Given the description of an element on the screen output the (x, y) to click on. 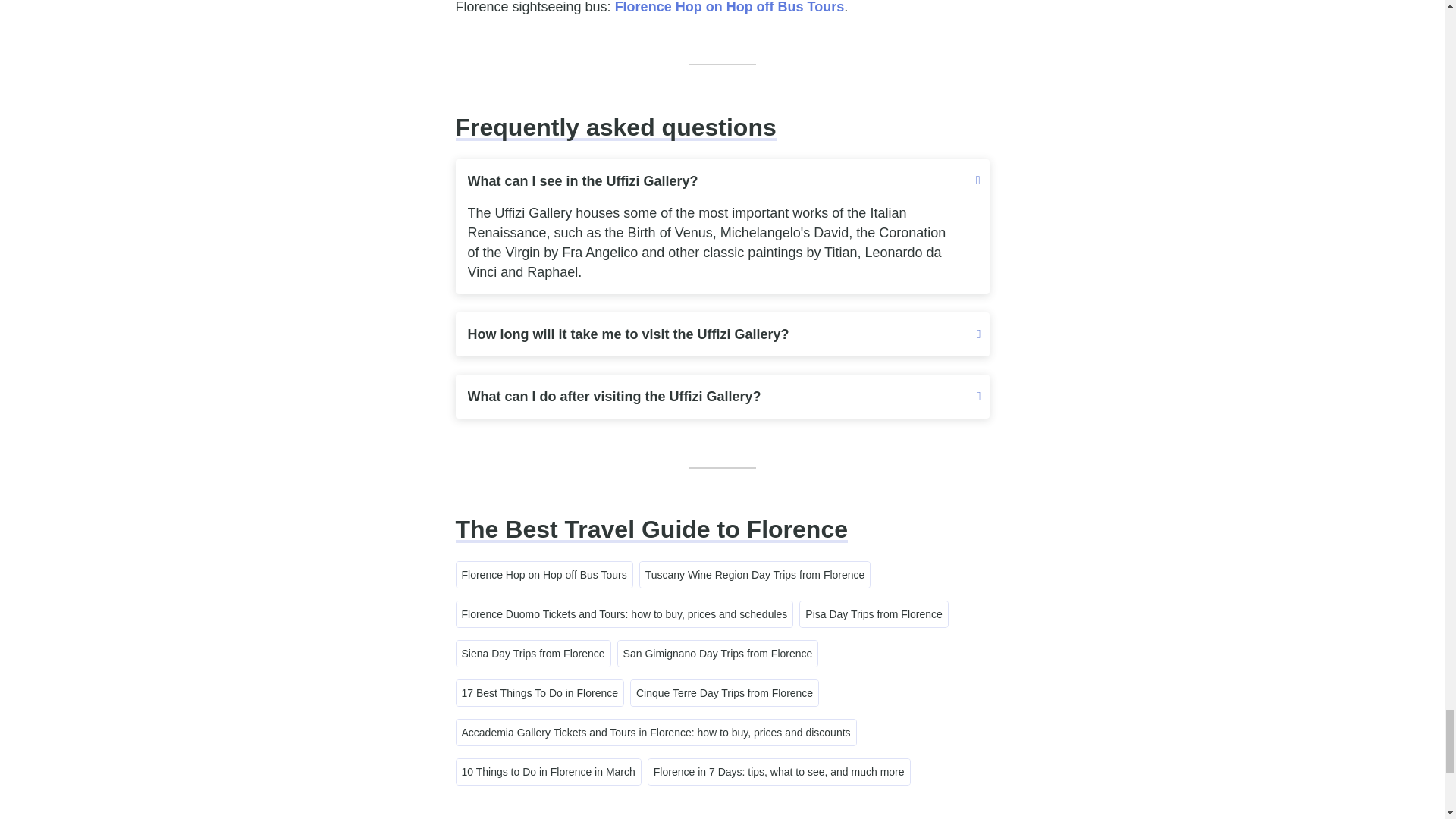
Florence in 7 Days: tips, what to see, and much more (778, 771)
Pisa Day Trips from Florence (873, 614)
The Best Travel Guide to Florence (650, 528)
Florence Hop on Hop off Bus Tours (729, 7)
Siena Day Trips from Florence (533, 653)
San Gimignano Day Trips from Florence (717, 653)
Cinque Terre Day Trips from Florence (724, 692)
10 Things to Do in Florence in March (548, 771)
